Given the description of an element on the screen output the (x, y) to click on. 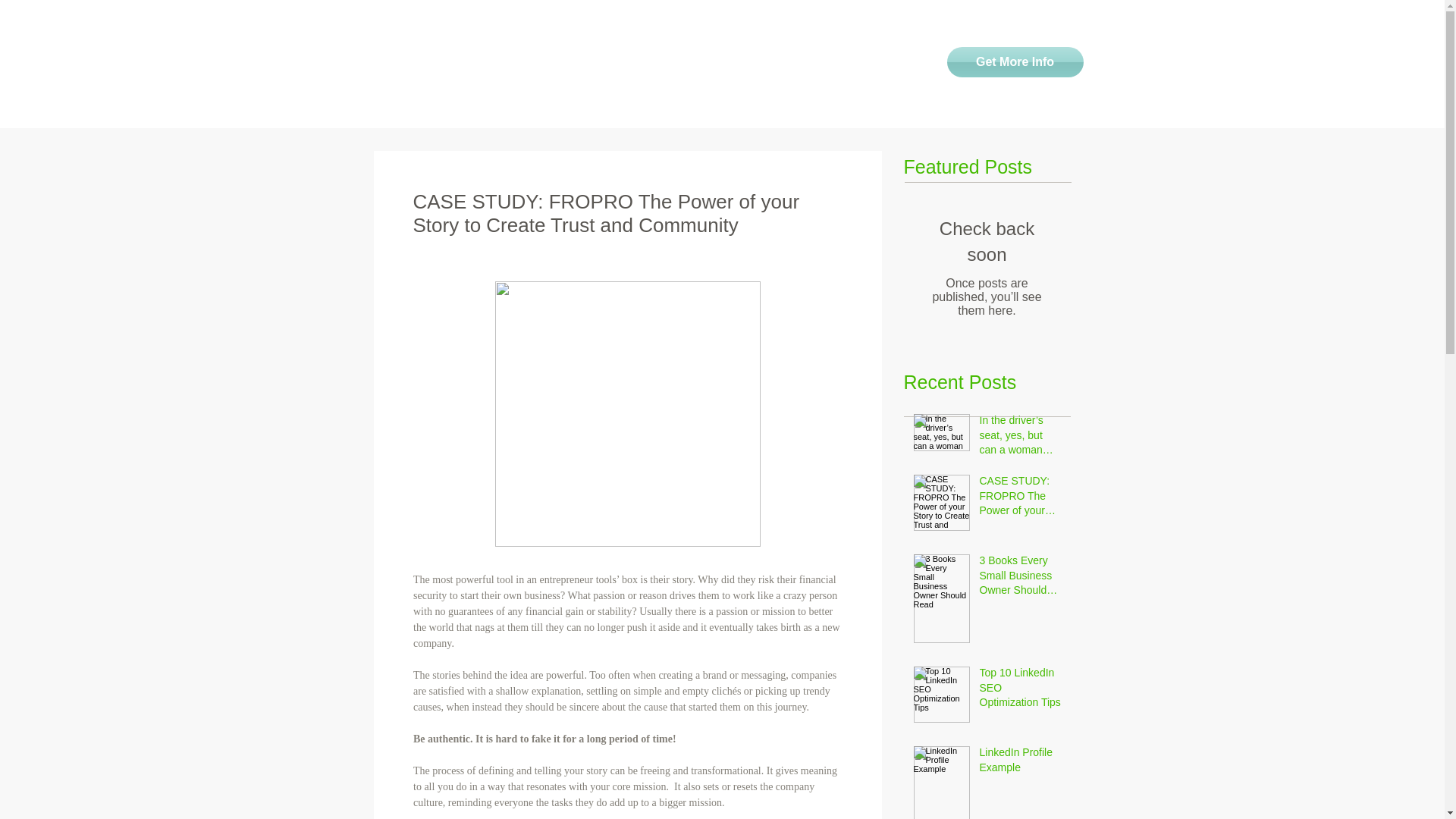
3 Books Every Small Business Owner Should Read (1020, 578)
LinkedIn Profile Example (1020, 763)
Get More Info (1014, 61)
Top 10 LinkedIn SEO Optimization Tips (1020, 690)
